Given the description of an element on the screen output the (x, y) to click on. 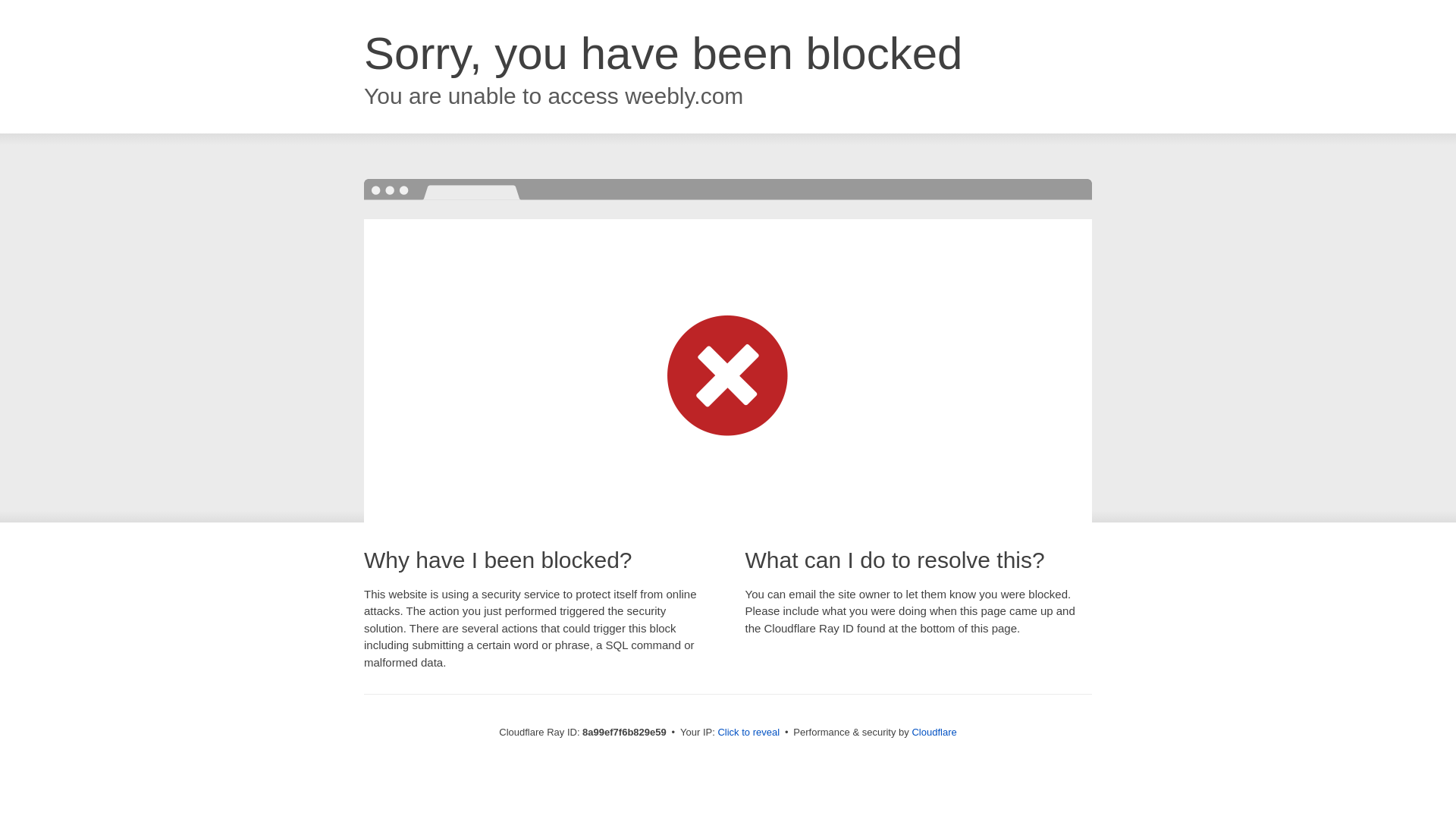
Cloudflare (933, 731)
Click to reveal (747, 732)
